Given the description of an element on the screen output the (x, y) to click on. 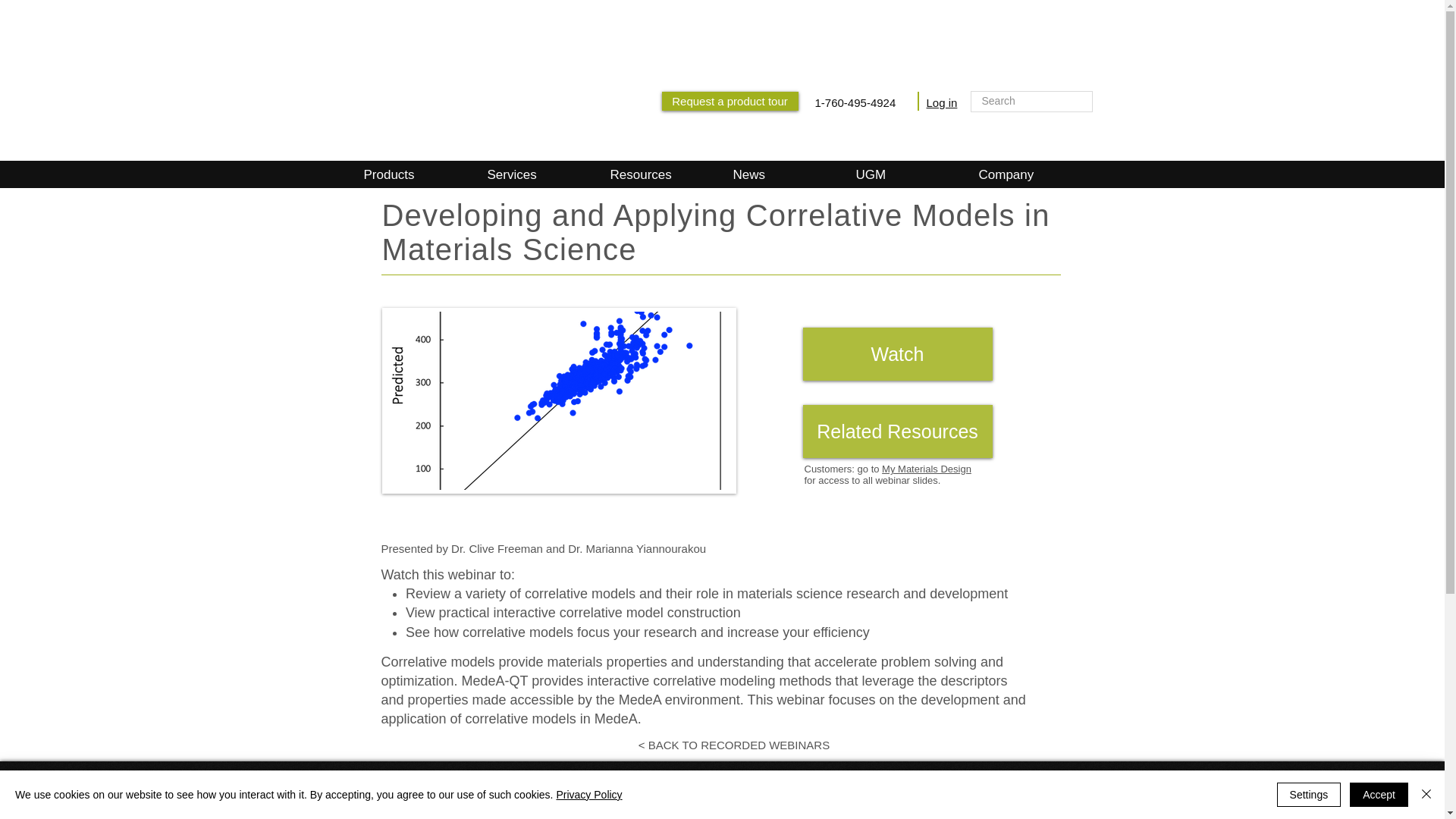
Log in (942, 102)
Services (535, 174)
Products (413, 174)
Products (425, 806)
My Materials Design (926, 469)
Request a product tour (729, 100)
Resources (658, 174)
UGM (904, 174)
Company (1026, 174)
